Given the description of an element on the screen output the (x, y) to click on. 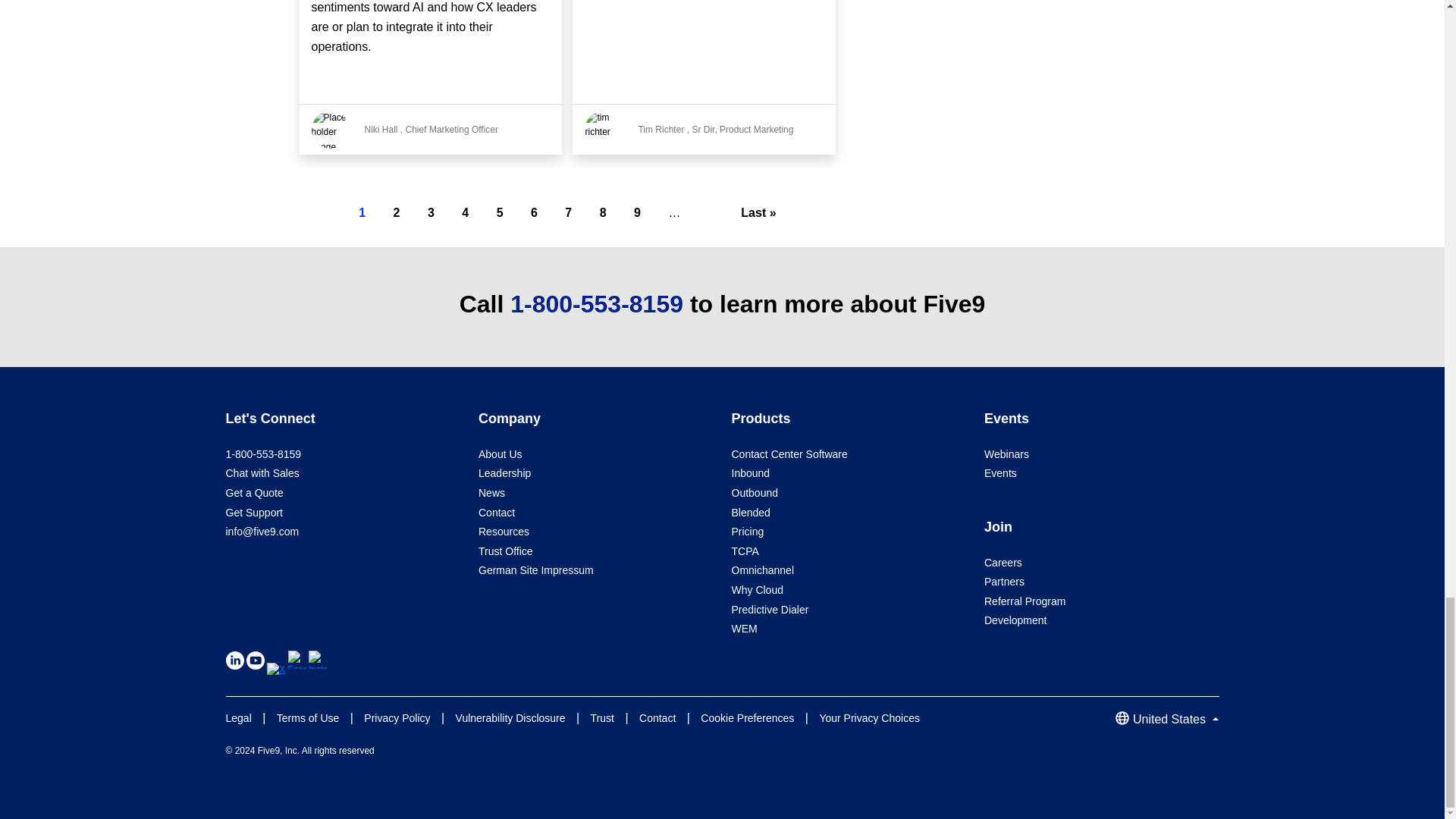
Placeholder image (330, 129)
Go to last page (758, 212)
